Given the description of an element on the screen output the (x, y) to click on. 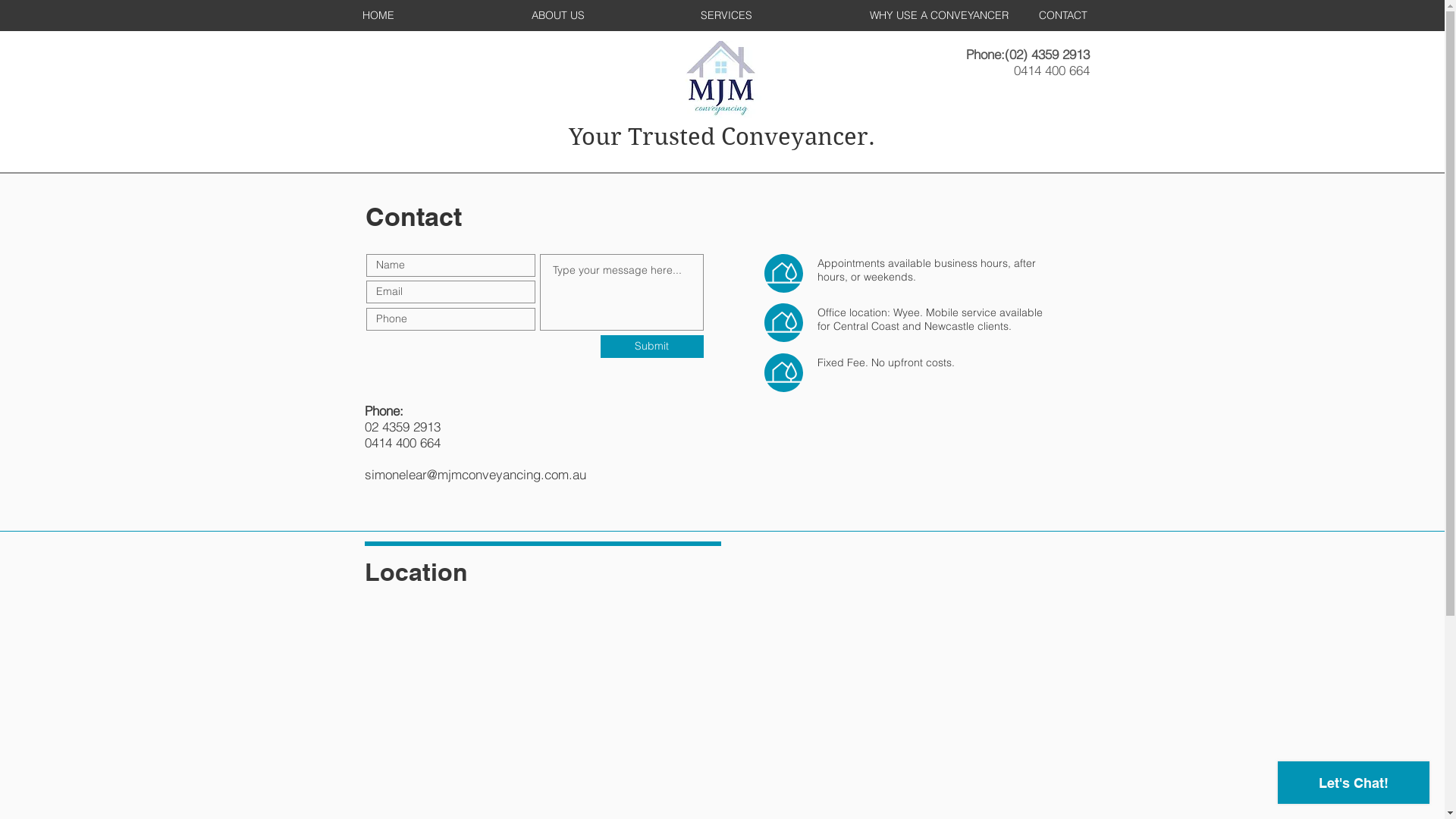
CONTACT Element type: text (1110, 15)
WHY USE A CONVEYANCER Element type: text (942, 15)
HOME Element type: text (434, 15)
SERVICES Element type: text (772, 15)
Your Trusted Conveyancer. Element type: text (721, 136)
Submit Element type: text (651, 346)
ABOUT US Element type: text (604, 15)
